Given the description of an element on the screen output the (x, y) to click on. 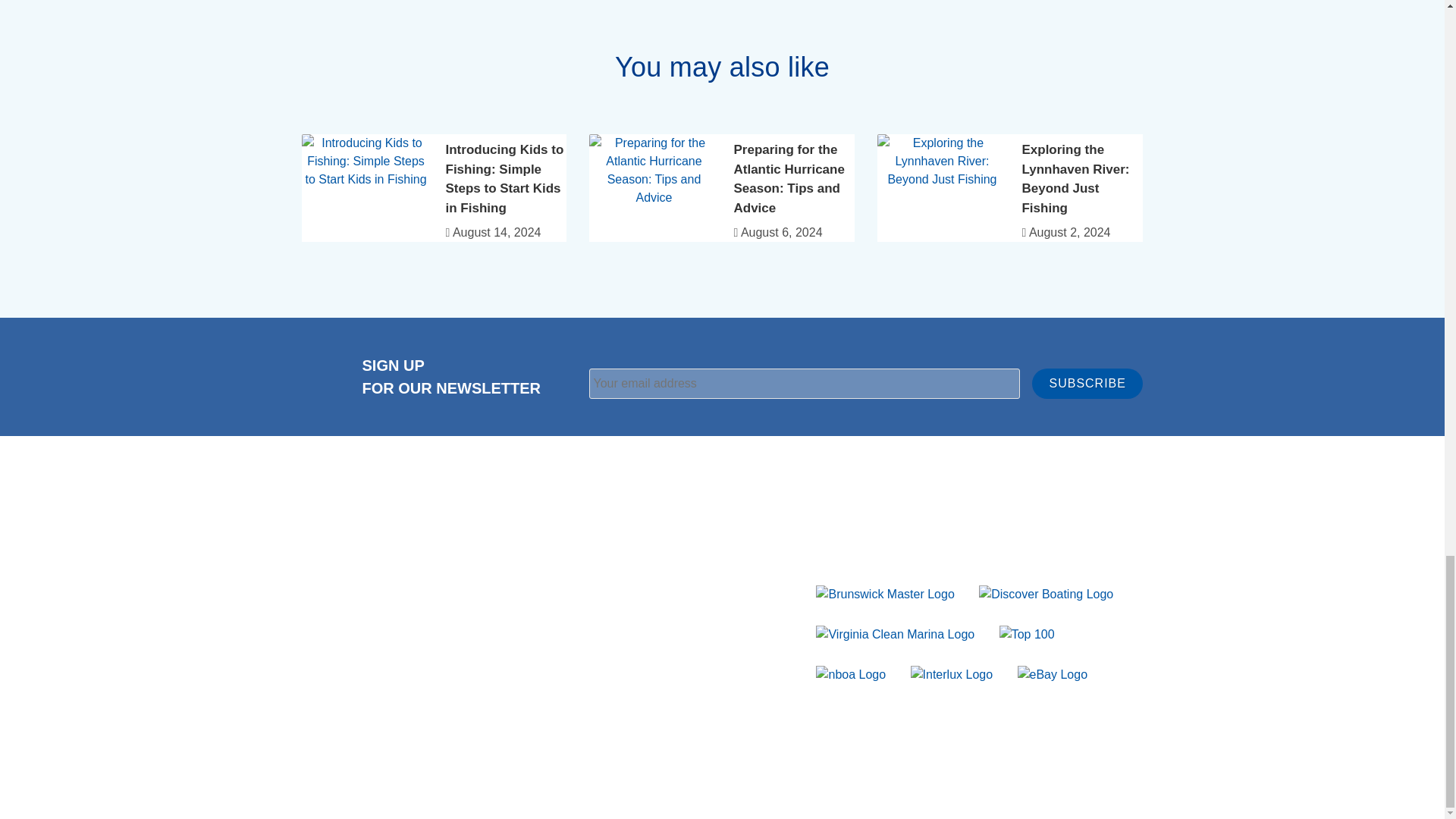
Preparing for the Atlantic Hurricane Season: Tips and Advice (788, 178)
nboa Logo (850, 673)
eBay Logo (1052, 673)
Subscribe (1086, 383)
Discover Boating Logo (1045, 593)
Interlux Logo (951, 673)
Brunswick Master Logo (884, 593)
Top 100 (1026, 633)
Virginia Clean Marina Logo (894, 633)
